Given the description of an element on the screen output the (x, y) to click on. 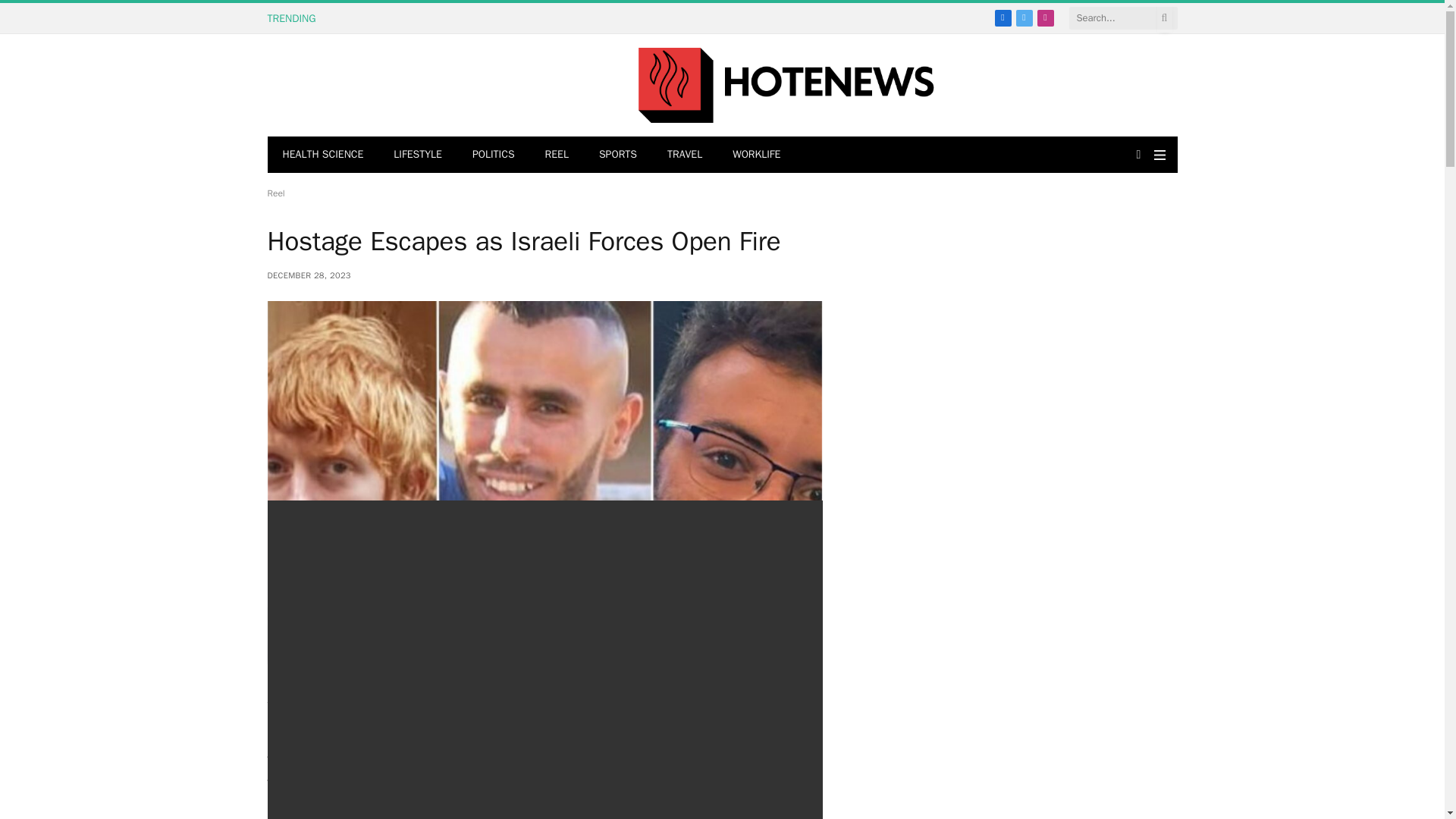
LIFESTYLE (417, 154)
Switch to Dark Design - easier on eyes. (1138, 154)
Hote News (786, 85)
POLITICS (493, 154)
WORKLIFE (755, 154)
TRAVEL (684, 154)
SPORTS (617, 154)
Instagram (1045, 17)
REEL (556, 154)
HEALTH SCIENCE (322, 154)
Facebook (1002, 17)
